Given the description of an element on the screen output the (x, y) to click on. 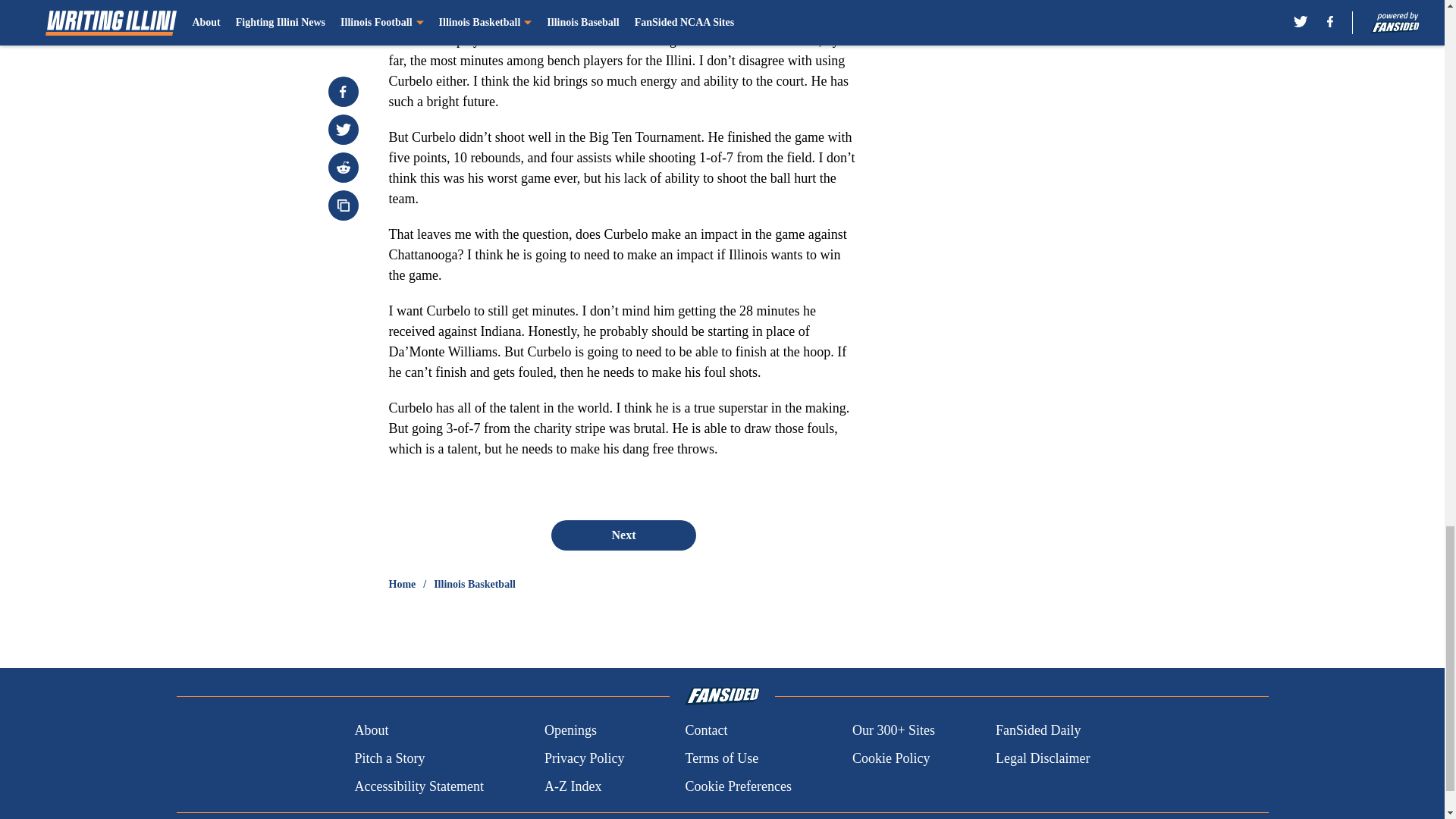
Openings (570, 730)
About (370, 730)
Legal Disclaimer (1042, 758)
Privacy Policy (584, 758)
Home (401, 584)
Cookie Policy (890, 758)
FanSided Daily (1038, 730)
Pitch a Story (389, 758)
Accessibility Statement (418, 786)
A-Z Index (572, 786)
